Given the description of an element on the screen output the (x, y) to click on. 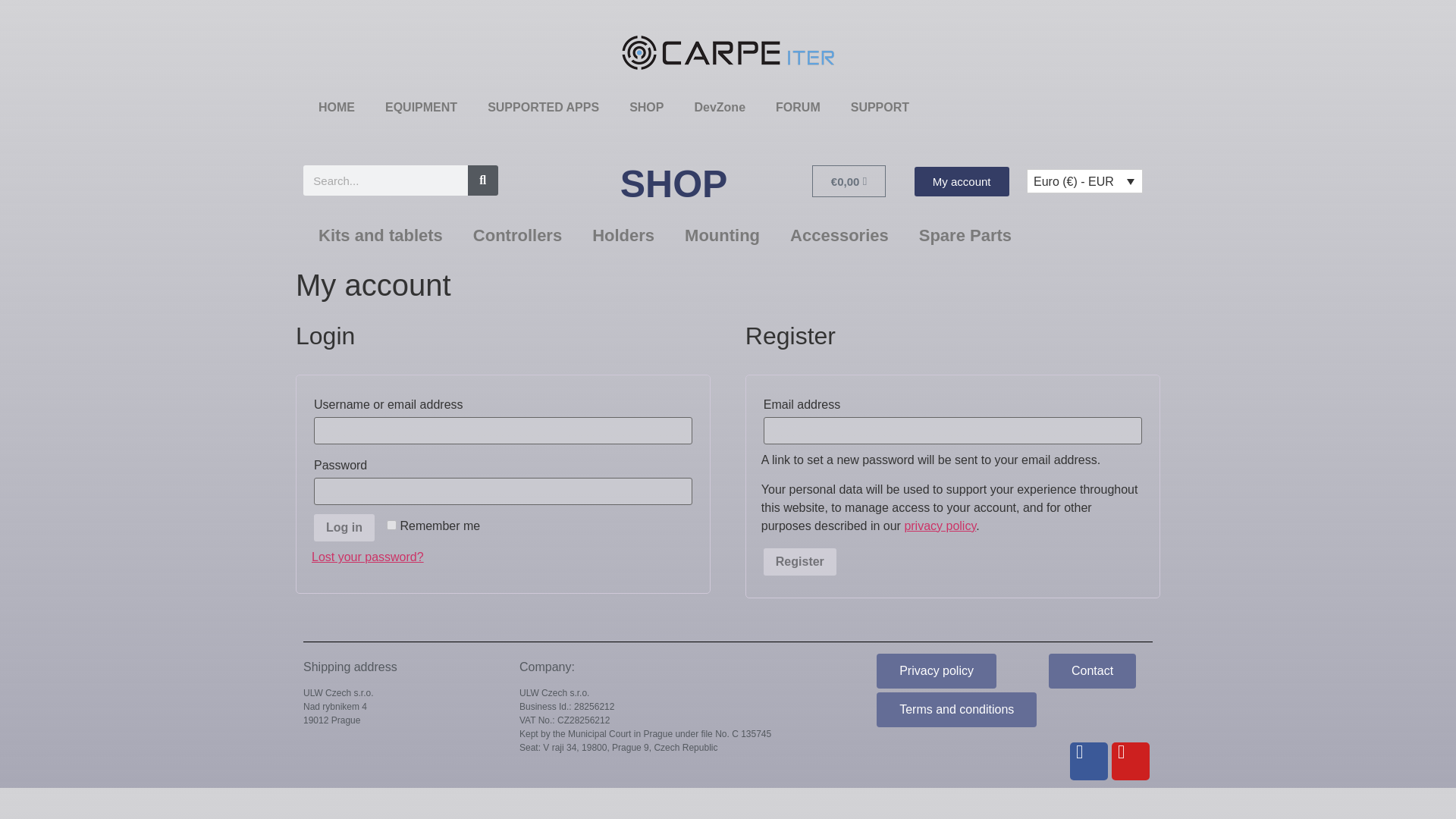
FORUM (797, 107)
Controllers (517, 235)
My account (961, 181)
SUPPORT (879, 107)
SHOP (674, 183)
Kits and tablets (380, 235)
forever (391, 524)
SHOP (646, 107)
EQUIPMENT (420, 107)
DevZone (719, 107)
HOME (335, 107)
SUPPORTED APPS (542, 107)
